Given the description of an element on the screen output the (x, y) to click on. 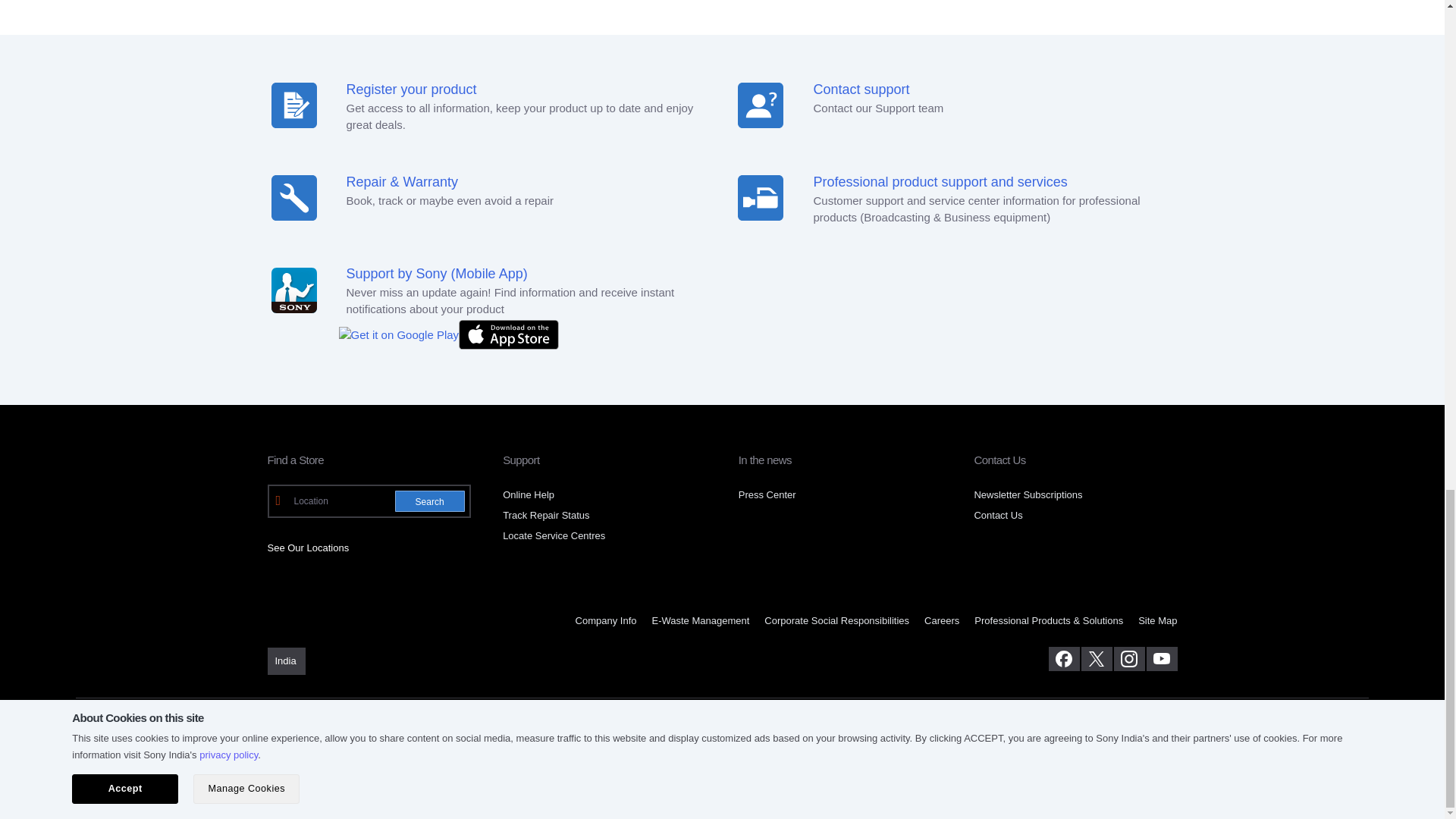
nntnnnttnn (760, 197)
